Given the description of an element on the screen output the (x, y) to click on. 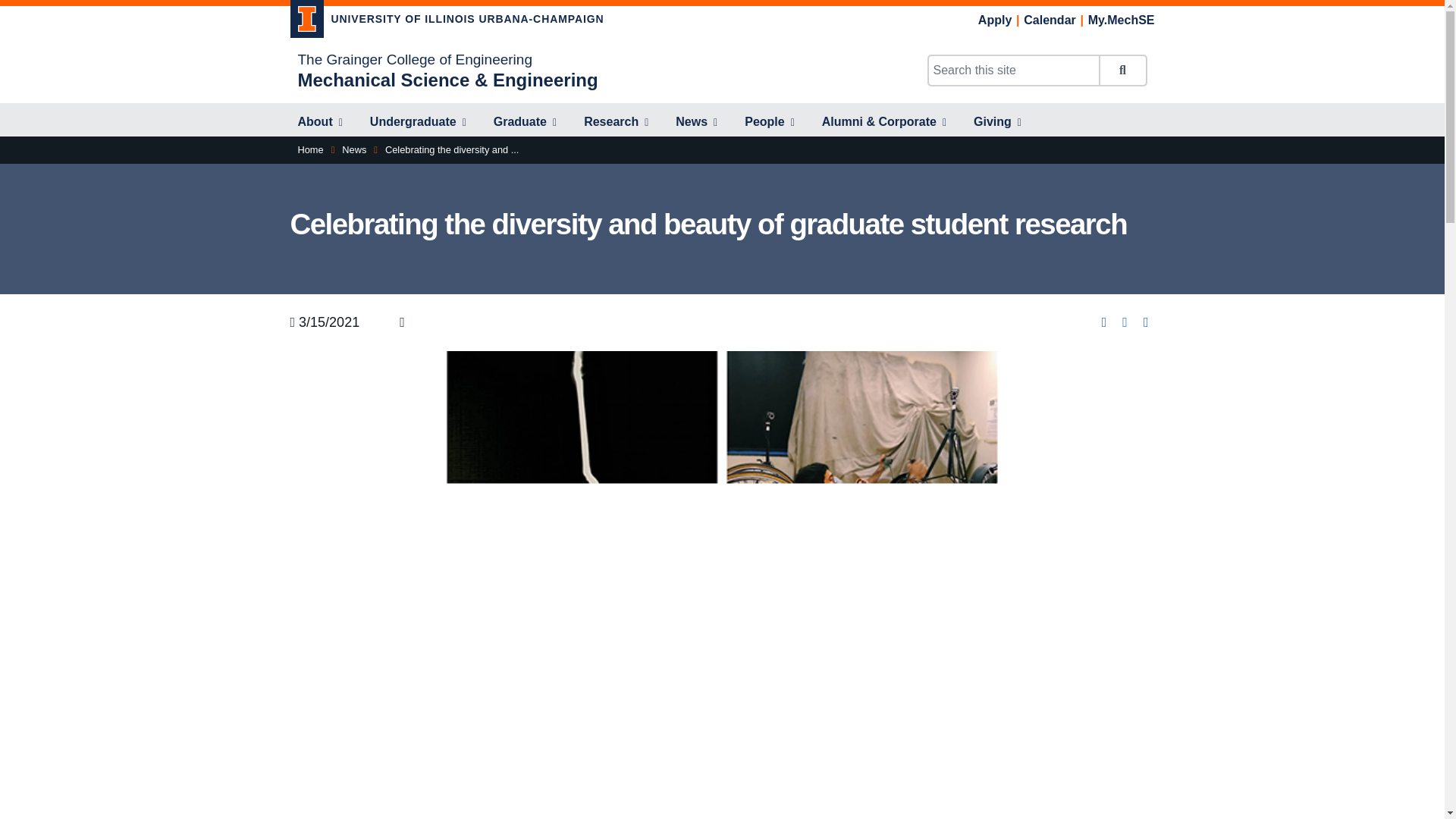
UNIVERSITY OF ILLINOIS URBANA-CHAMPAIGN (446, 21)
About (319, 122)
The Grainger College of Engineering (414, 59)
My.MechSE (1120, 19)
Search (1121, 70)
Apply (994, 19)
Undergraduate (418, 122)
Calendar (1049, 19)
